Given the description of an element on the screen output the (x, y) to click on. 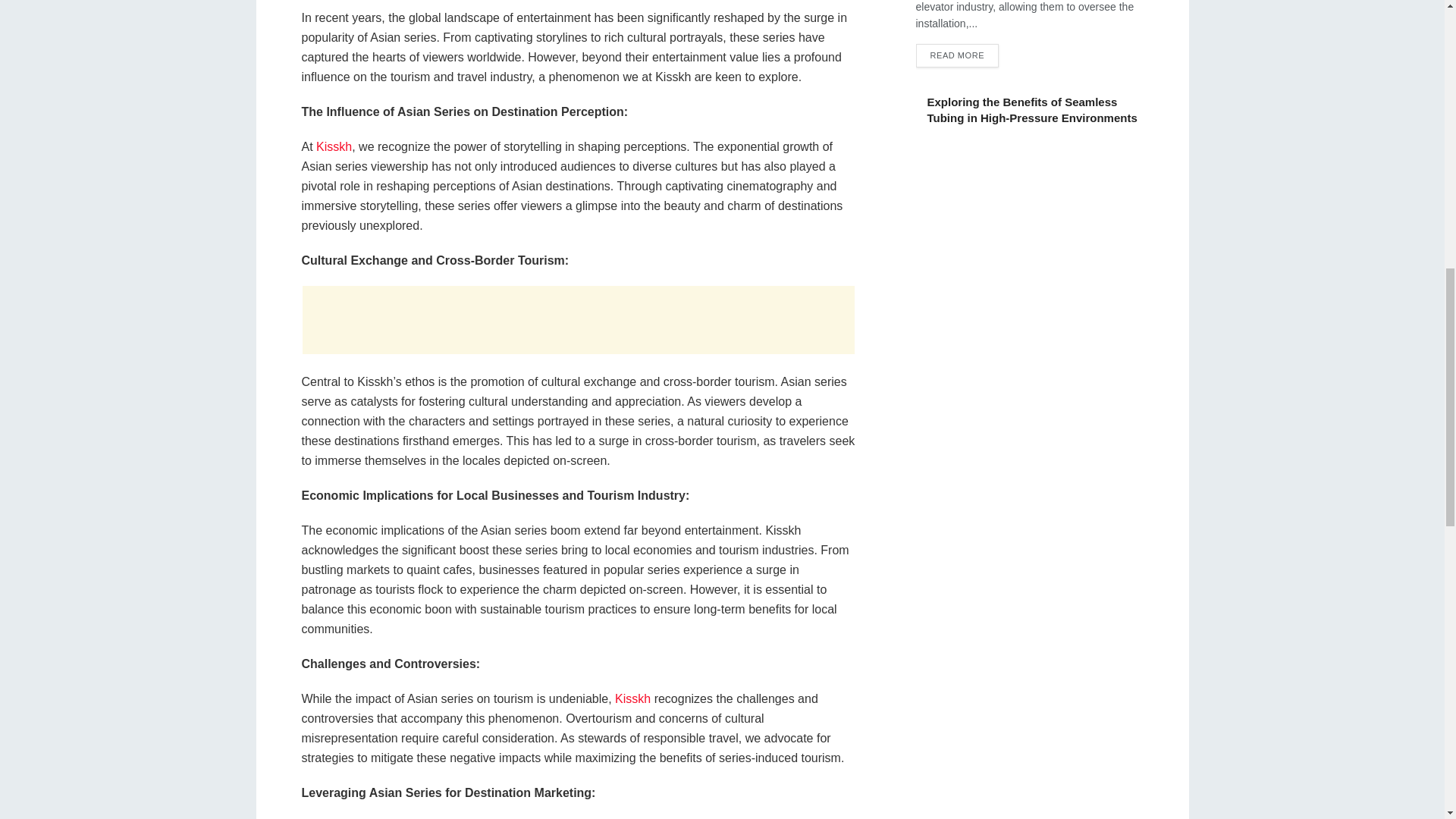
Advertisement (577, 319)
